Given the description of an element on the screen output the (x, y) to click on. 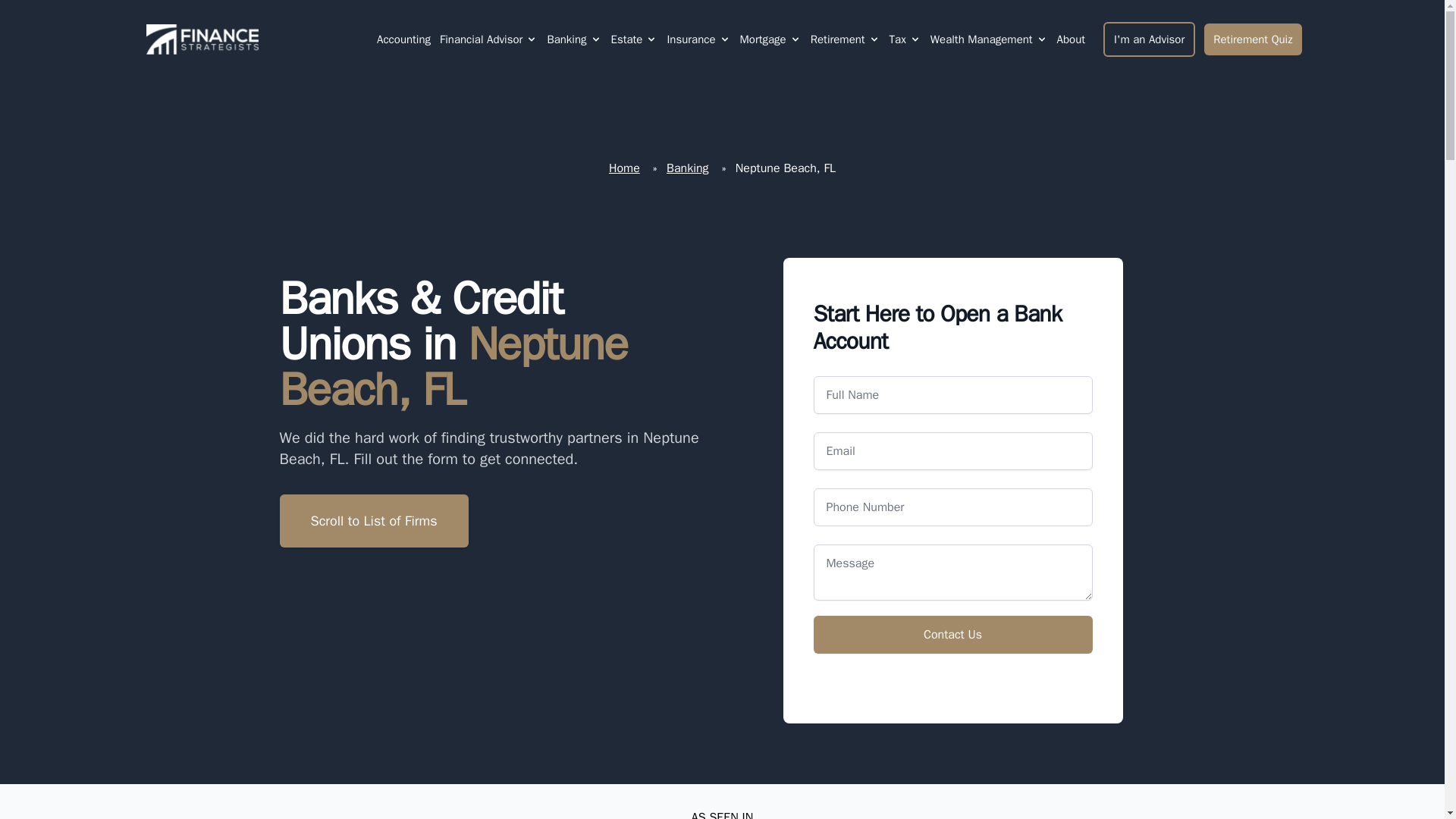
Financial Advisor (488, 39)
Finance Strategists (199, 39)
Accounting (403, 39)
Banking (573, 39)
Banking (566, 39)
Accounting (403, 39)
Financial Advisor (480, 39)
